Given the description of an element on the screen output the (x, y) to click on. 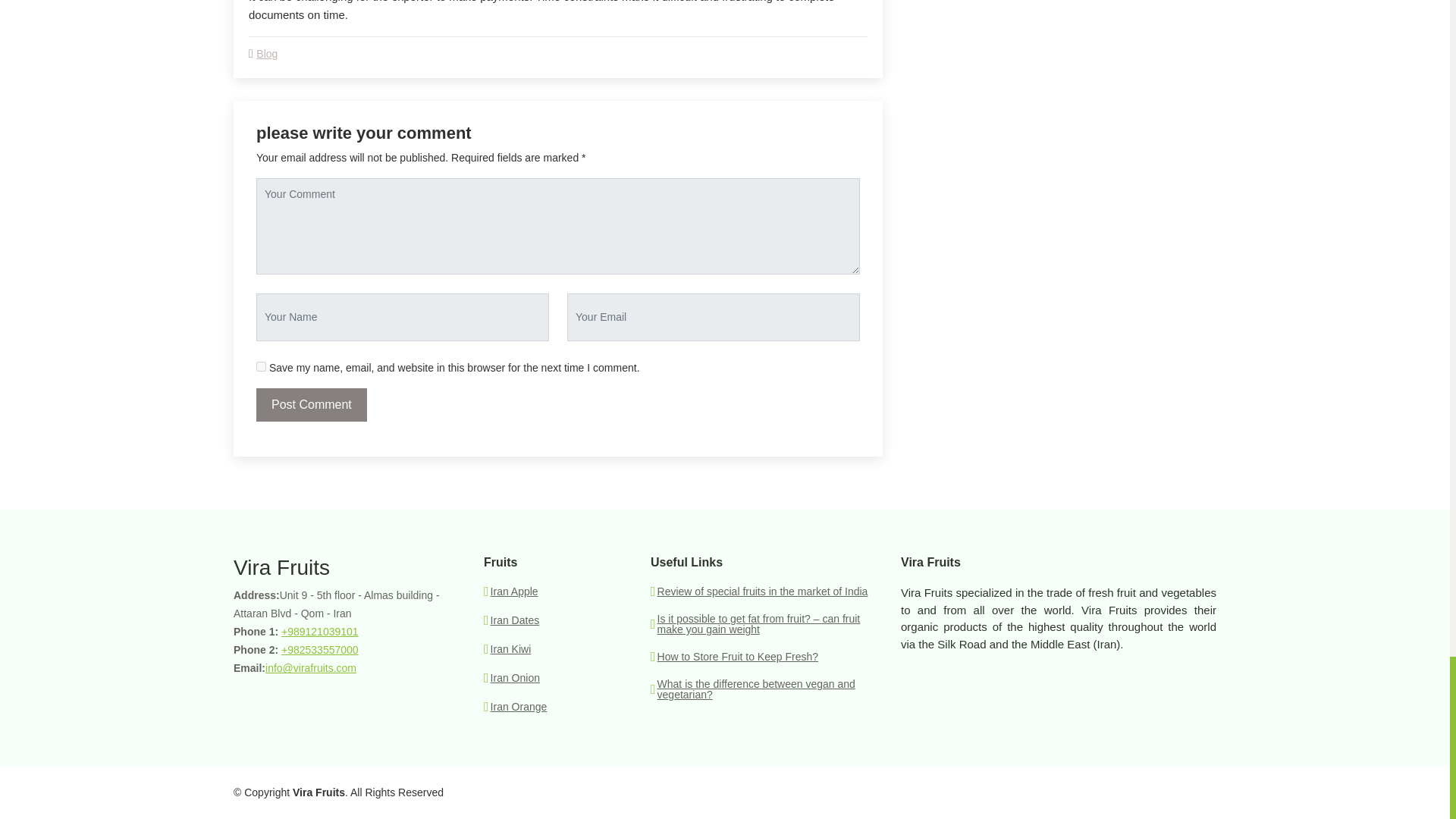
yes (261, 366)
Blog (267, 53)
Post Comment (311, 404)
